Given the description of an element on the screen output the (x, y) to click on. 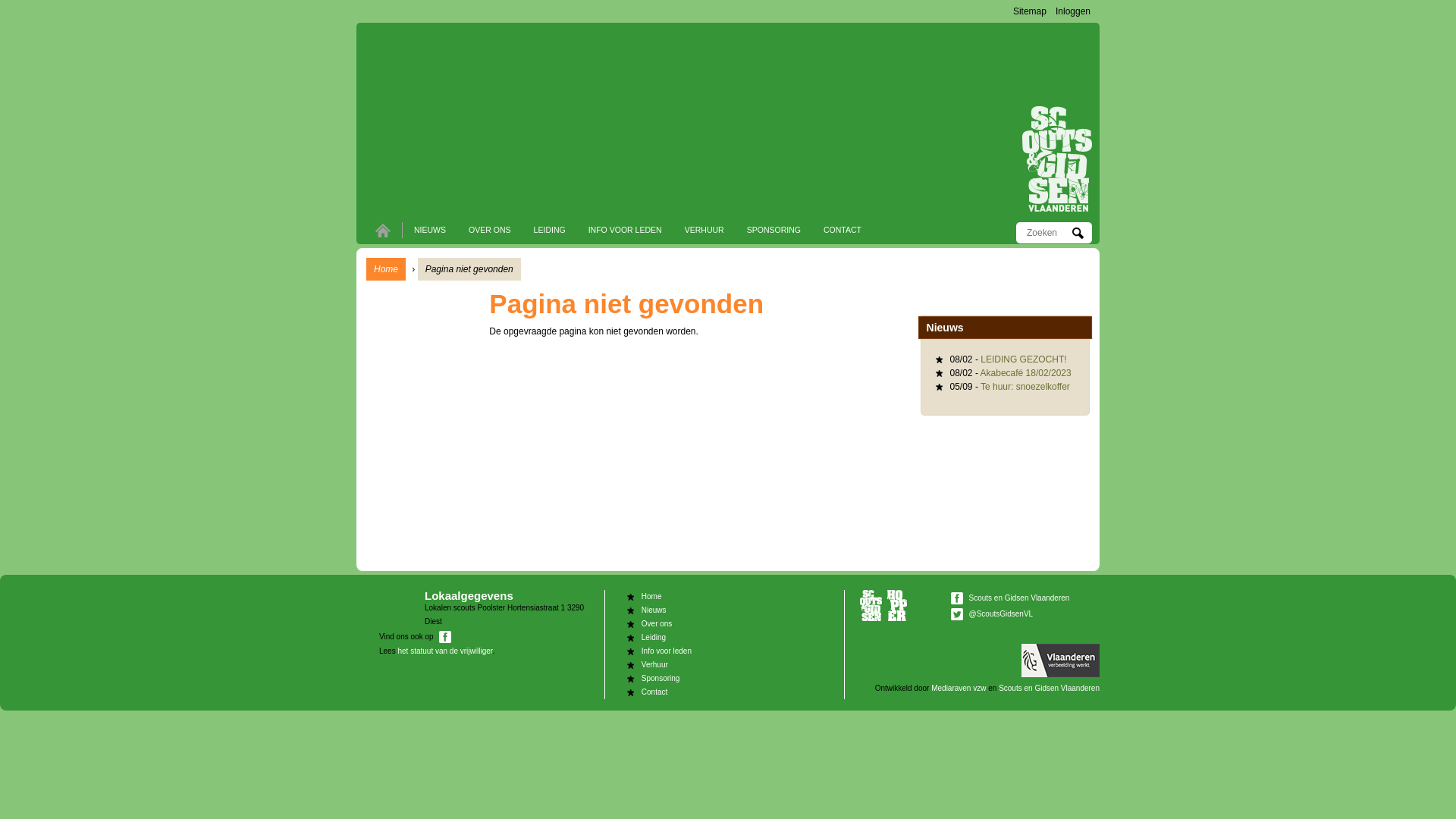
Contact Element type: text (654, 691)
Sitemap Element type: text (1029, 11)
Home Element type: hover (1057, 158)
Scouts & Gidsen Vlaanderen op Twitter Element type: hover (958, 613)
Nieuws Element type: text (653, 609)
Mediaraven vzw Element type: text (958, 688)
Facebook Element type: hover (445, 636)
Inloggen Element type: text (1072, 11)
@ScoutsGidsenVL Element type: text (1001, 613)
Hopper Element type: hover (896, 605)
Sponsoring Element type: text (660, 678)
Scouts en Gidsen Vlaanderen Element type: text (1048, 688)
CONTACT Element type: text (842, 229)
Info voor leden Element type: text (666, 650)
OVER ONS Element type: text (489, 229)
Twitter Element type: hover (956, 614)
Facebook Element type: hover (956, 598)
Scouts en Gidsen Vlaanderen Element type: text (1019, 597)
Scouts & Gidsen Vlaanderen op Facebook Element type: hover (958, 597)
SPONSORING Element type: text (773, 229)
LEIDING Element type: text (549, 229)
het statuut van de vrijwilliger Element type: text (444, 650)
NIEUWS Element type: text (429, 229)
Geef de woorden op waarnaar u wilt zoeken. Element type: hover (1047, 232)
HOME Element type: text (382, 230)
Home Element type: hover (410, 76)
Te huur: snoezelkoffer Element type: text (1025, 386)
Verhuur Element type: text (654, 664)
LEIDING GEZOCHT! Element type: text (1023, 359)
Leiding Element type: text (653, 637)
Home Element type: text (385, 268)
INFO VOOR LEDEN Element type: text (625, 229)
Over ons Element type: text (656, 623)
VERHUUR Element type: text (704, 229)
Home Element type: text (651, 596)
Scouts & Gidsen Vlaanderen Element type: hover (870, 605)
